Given the description of an element on the screen output the (x, y) to click on. 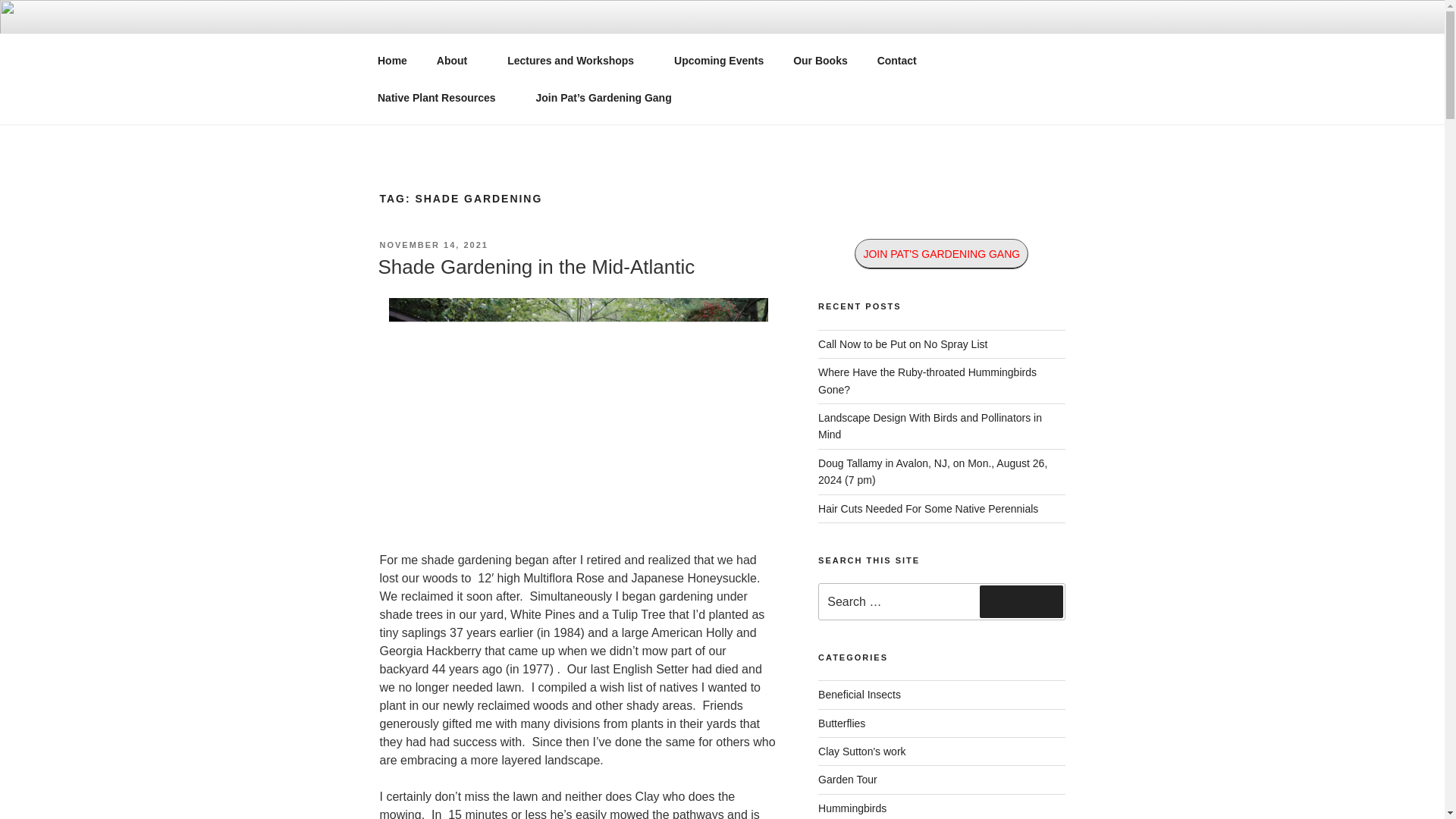
Lectures and Workshops (576, 60)
Native Plant Resources (441, 97)
PAT SUTTON'S WILDLIFE GARDEN (637, 52)
Contact (896, 60)
Native Plant Resources (392, 60)
About (456, 60)
Upcoming Events (719, 60)
Our Books (820, 60)
Home (392, 60)
